Given the description of an element on the screen output the (x, y) to click on. 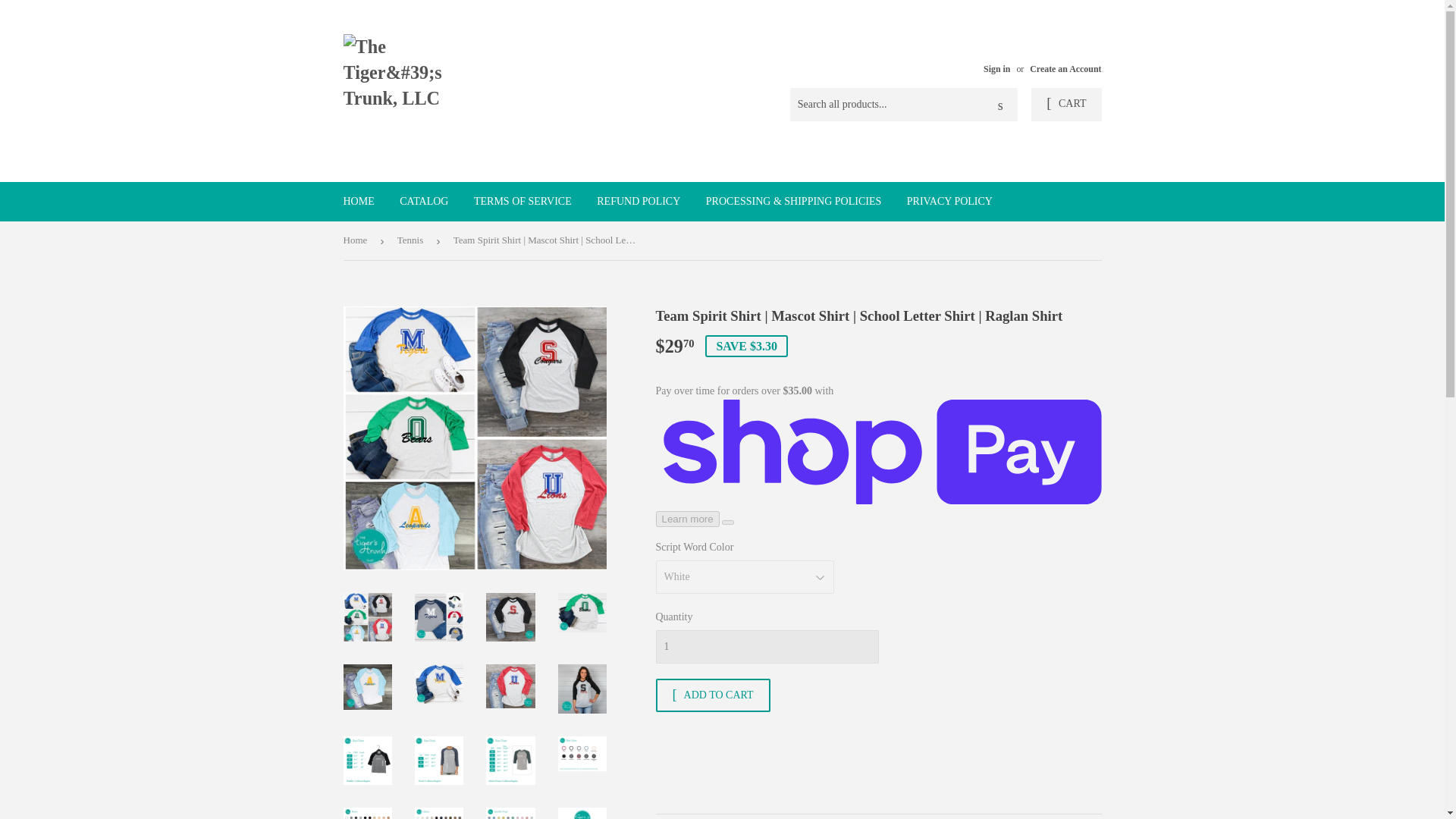
1 (766, 646)
CART (1065, 104)
Create an Account (1064, 68)
TERMS OF SERVICE (523, 201)
CATALOG (424, 201)
HOME (358, 201)
PRIVACY POLICY (949, 201)
Search (1000, 105)
Sign in (997, 68)
REFUND POLICY (638, 201)
